Given the description of an element on the screen output the (x, y) to click on. 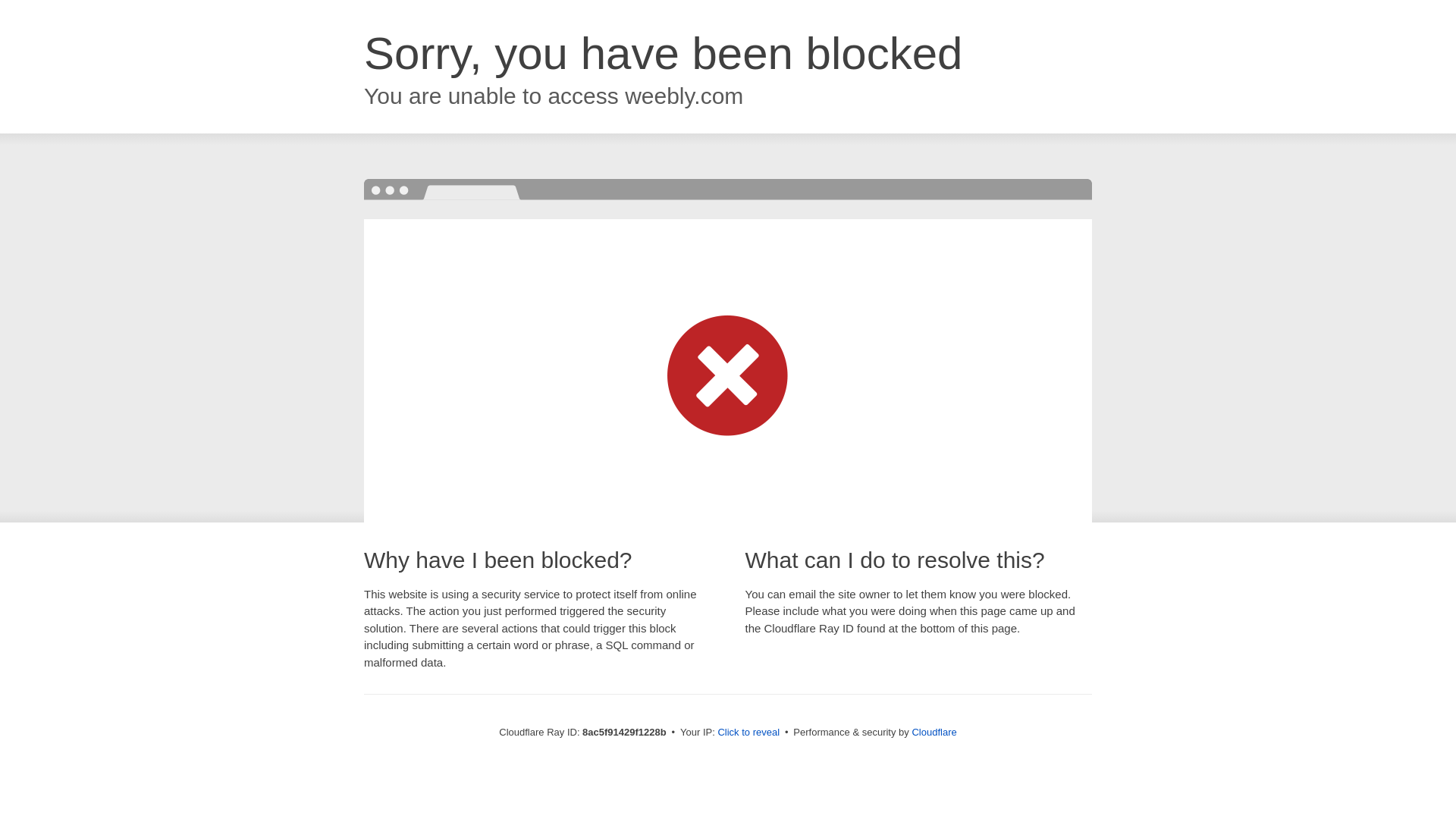
Cloudflare (933, 731)
Click to reveal (747, 732)
